Given the description of an element on the screen output the (x, y) to click on. 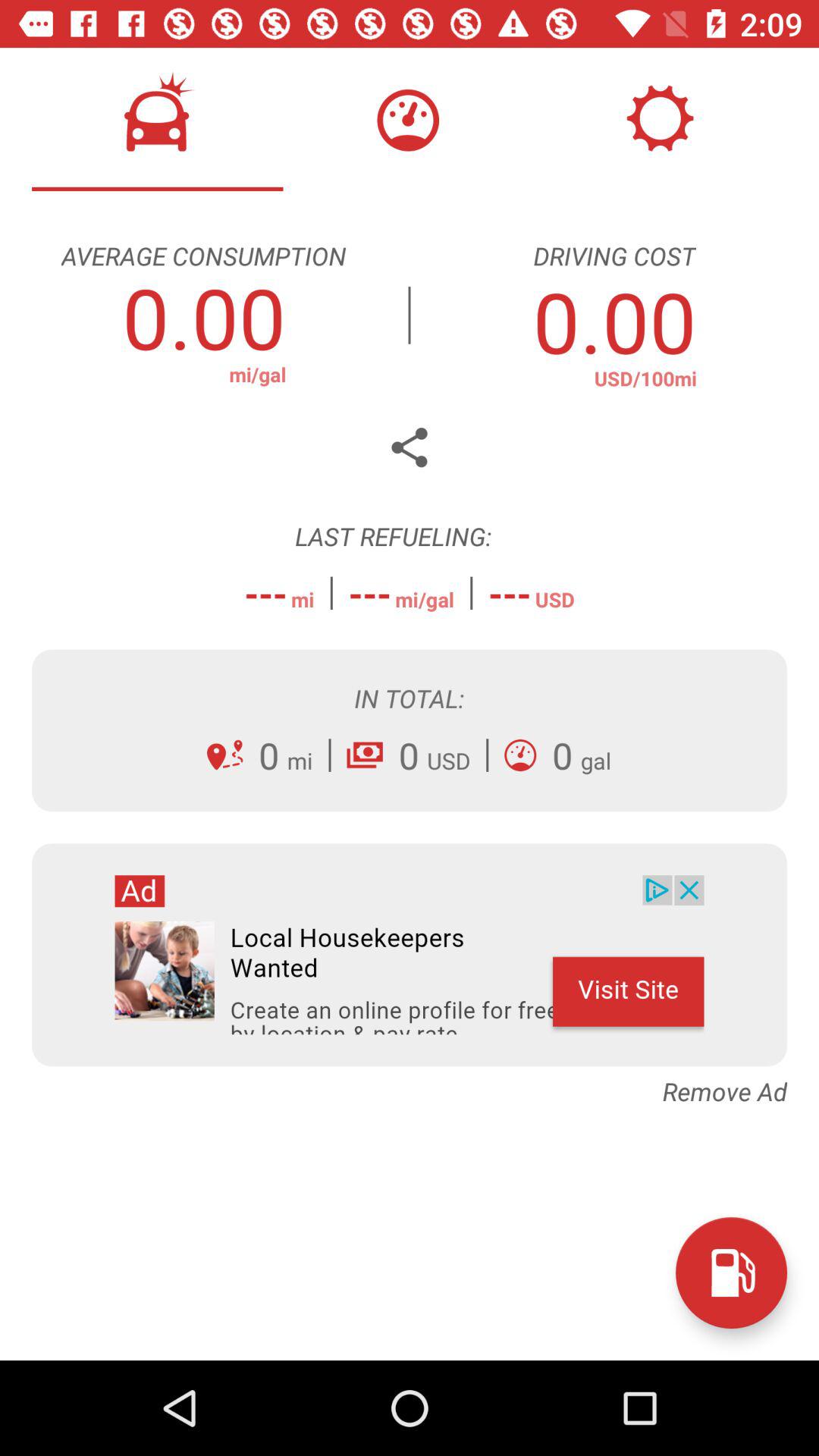
advertisements image (409, 954)
